Given the description of an element on the screen output the (x, y) to click on. 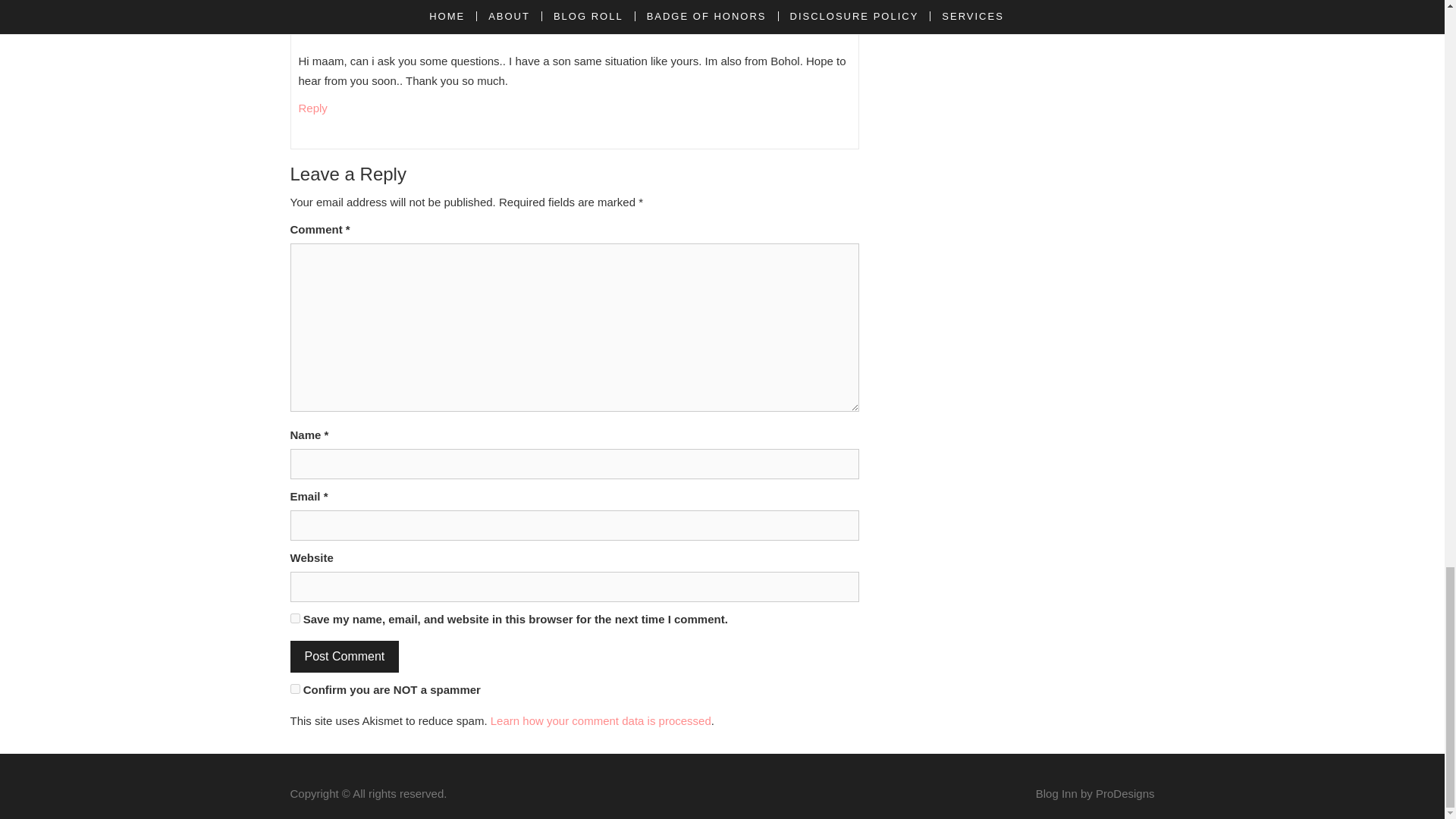
December 14, 2018 at 20:39 (370, 25)
Reply (312, 107)
yes (294, 618)
Post Comment (343, 656)
on (294, 688)
ProDesigns (1125, 793)
Learn how your comment data is processed (600, 720)
Post Comment (343, 656)
